Given the description of an element on the screen output the (x, y) to click on. 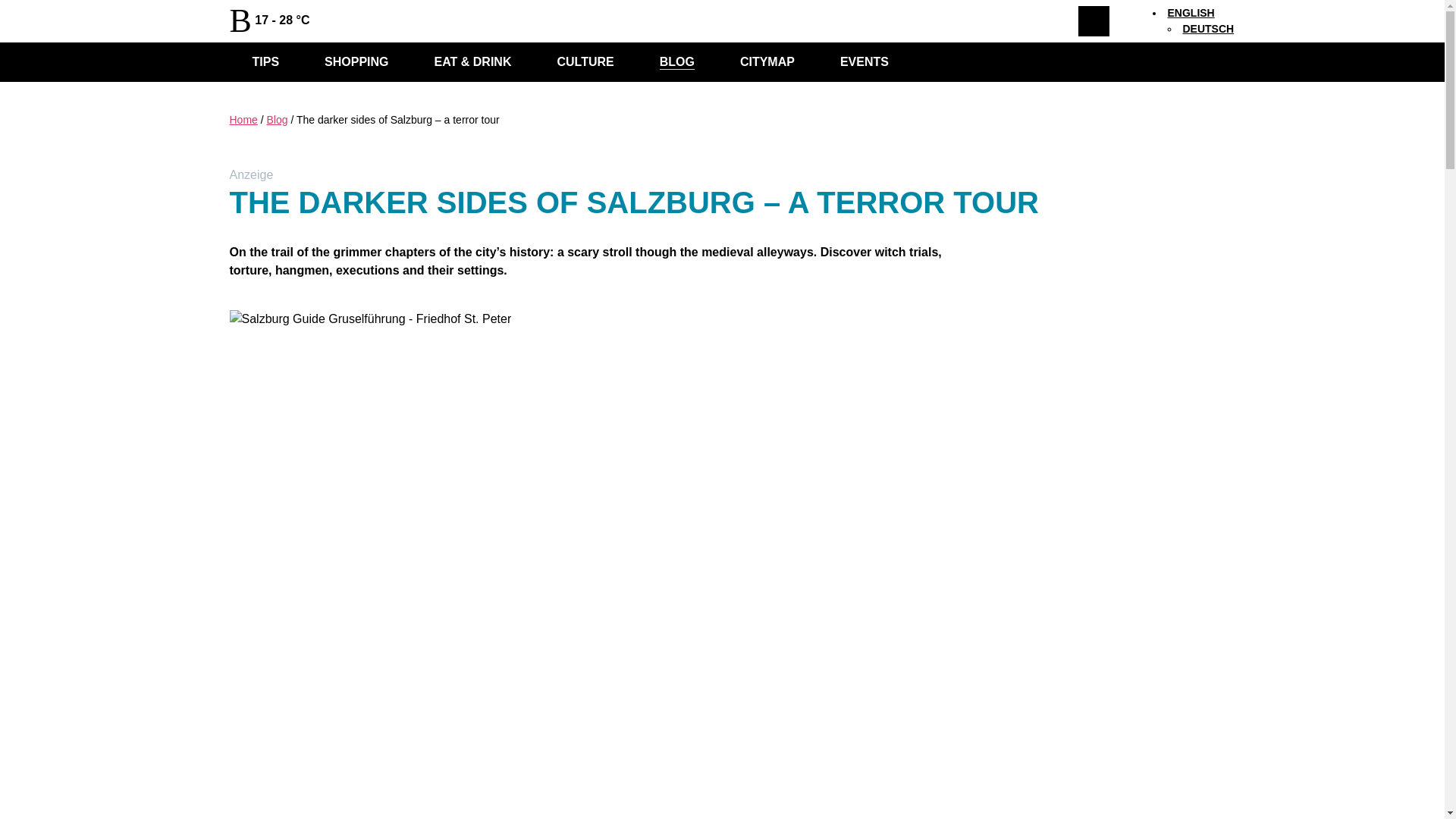
CULTURE (24, 87)
Facebook (359, 21)
Facebook (6, 88)
BLOG (677, 61)
HOME (16, 87)
DEUTSCH (1205, 28)
Facebook (359, 21)
SHOPPING (28, 87)
Instagram (382, 21)
TIPS (264, 61)
